Given the description of an element on the screen output the (x, y) to click on. 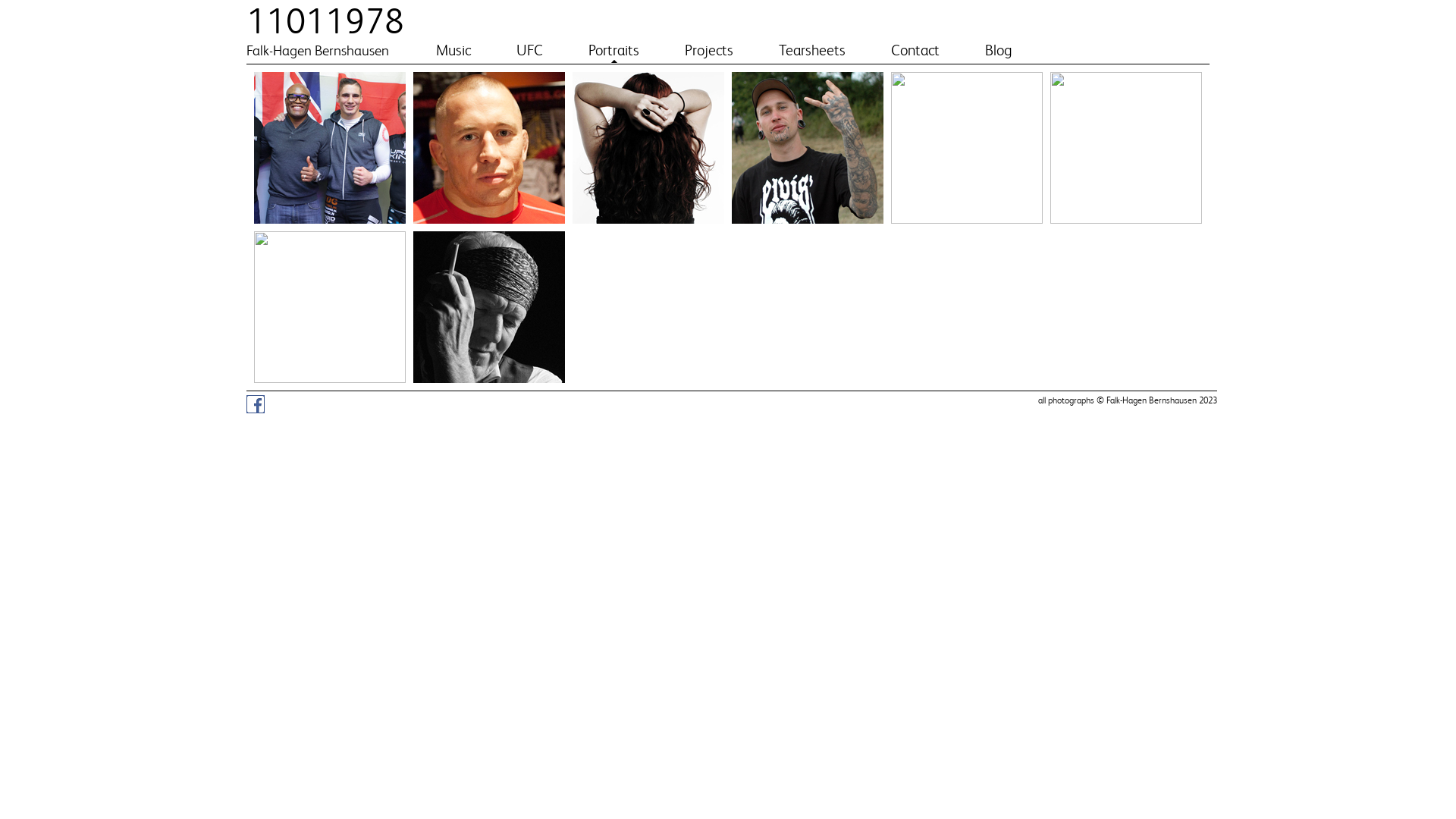
Blog Element type: text (998, 49)
Music Element type: text (453, 49)
Tearsheets Element type: text (812, 49)
Projects Element type: text (709, 49)
UFC Element type: text (529, 49)
Portraits Element type: text (613, 49)
Contact Element type: text (915, 49)
11011978 Element type: text (325, 21)
